Given the description of an element on the screen output the (x, y) to click on. 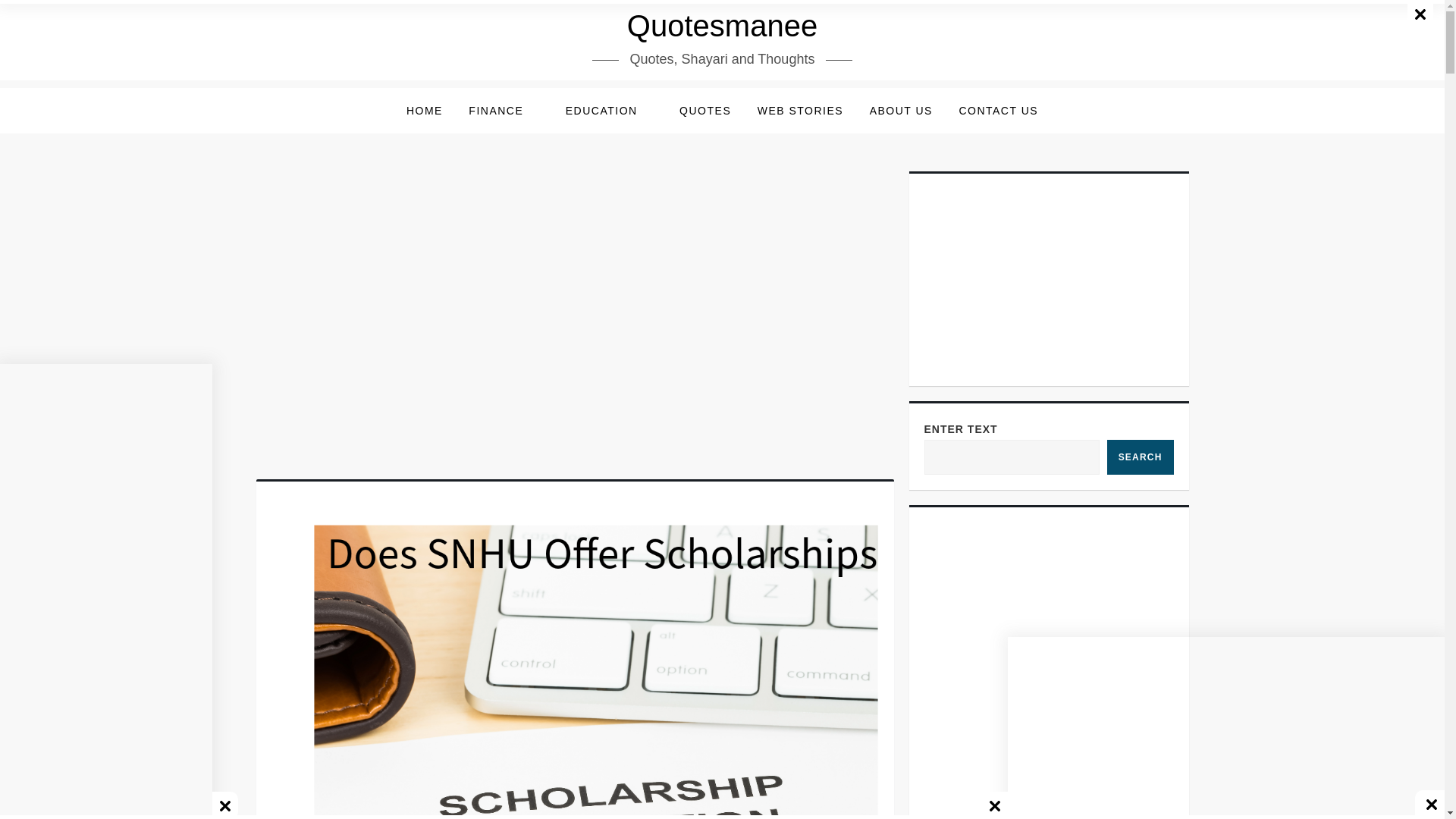
Quotesmanee (721, 25)
CONTACT US (998, 110)
FINANCE (503, 110)
ABOUT US (901, 110)
WEB STORIES (799, 110)
EDUCATION (609, 110)
QUOTES (705, 110)
HOME (424, 110)
